Given the description of an element on the screen output the (x, y) to click on. 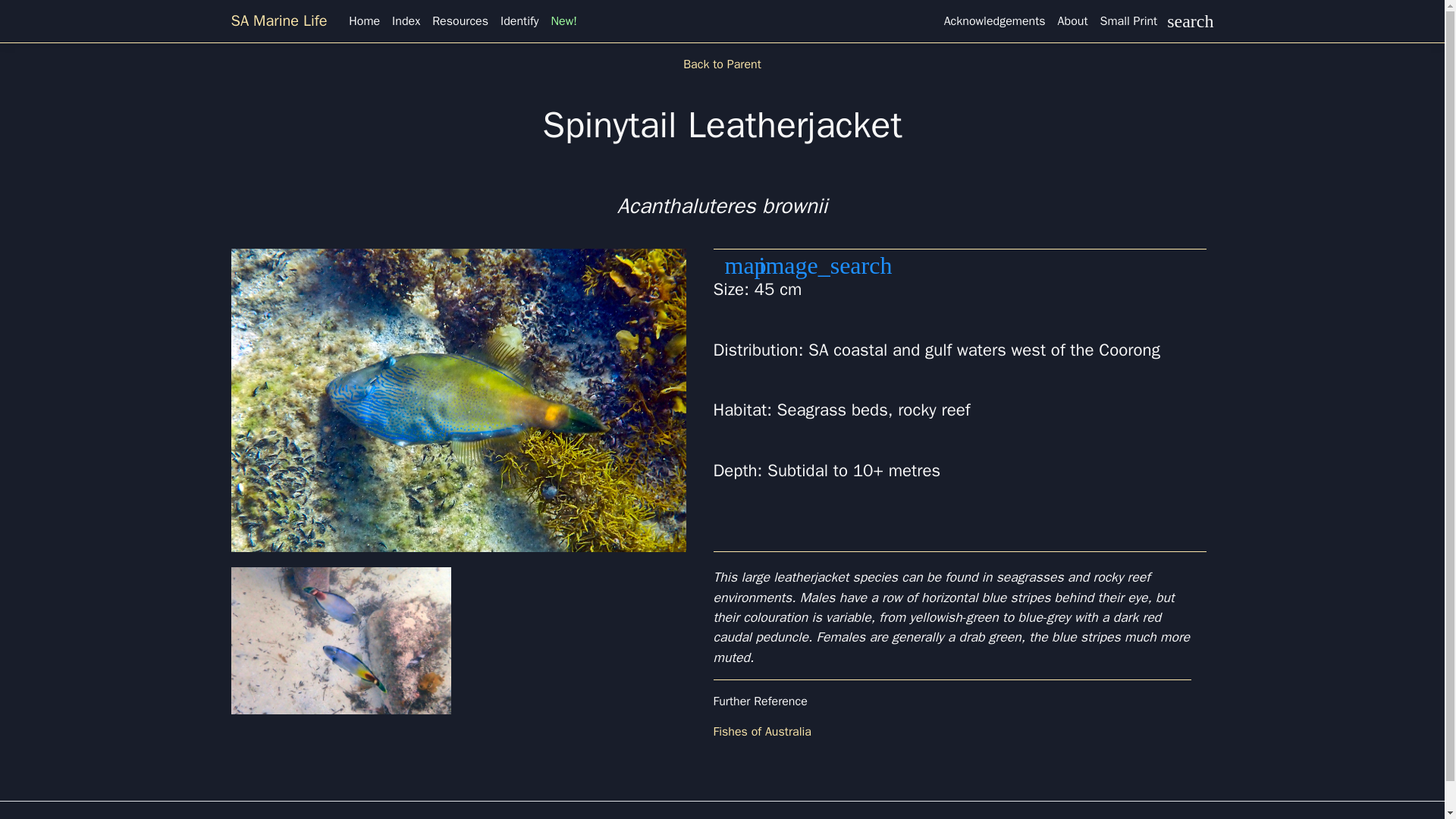
Home (363, 20)
Small Print (1128, 20)
Back to Parent (721, 64)
About (1072, 20)
Identify (519, 20)
Index (405, 20)
New! (563, 20)
Resources (460, 20)
Fishes of Australia (761, 731)
Acknowledgements (994, 20)
